Given the description of an element on the screen output the (x, y) to click on. 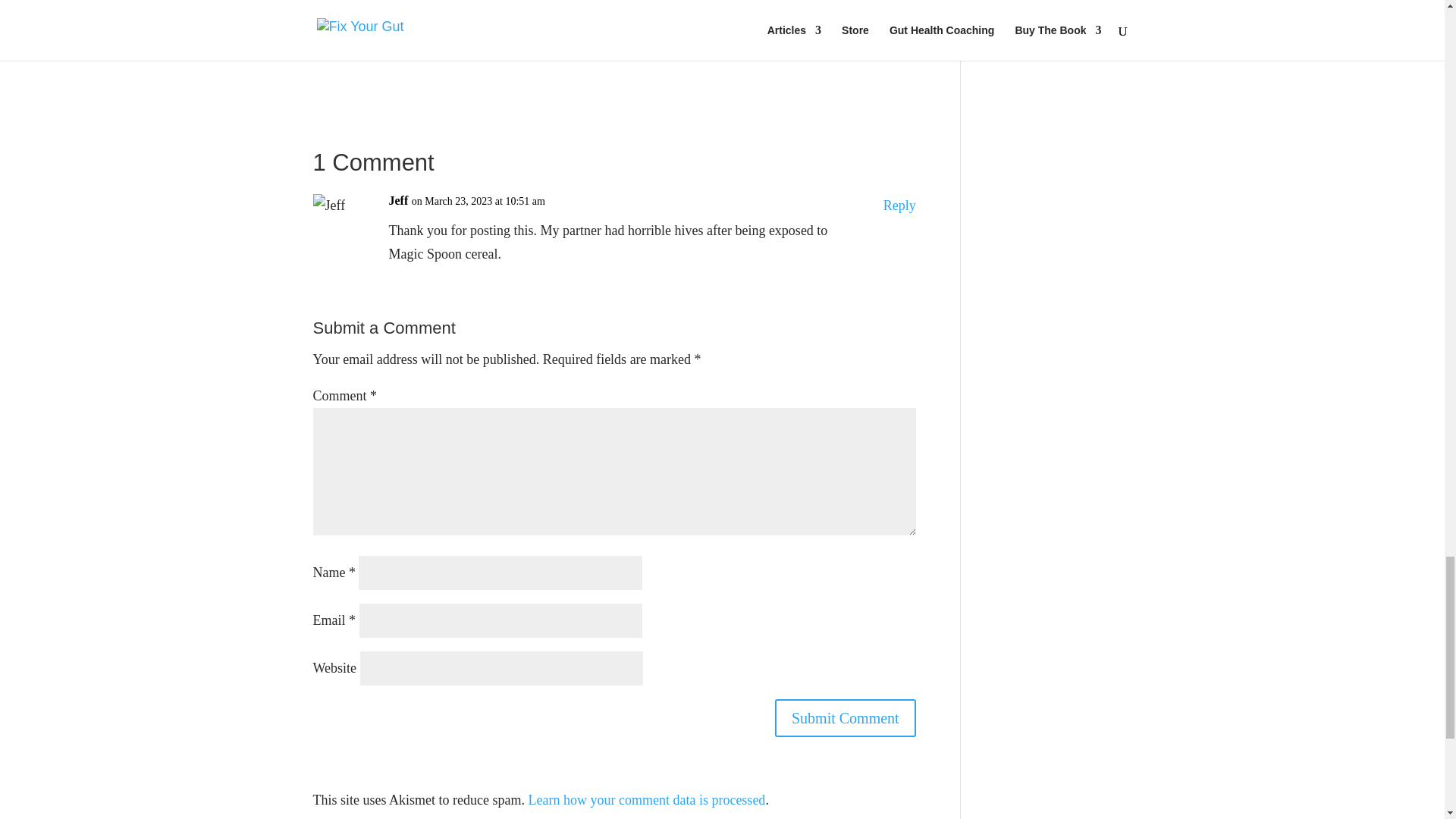
Submit Comment (844, 718)
